Given the description of an element on the screen output the (x, y) to click on. 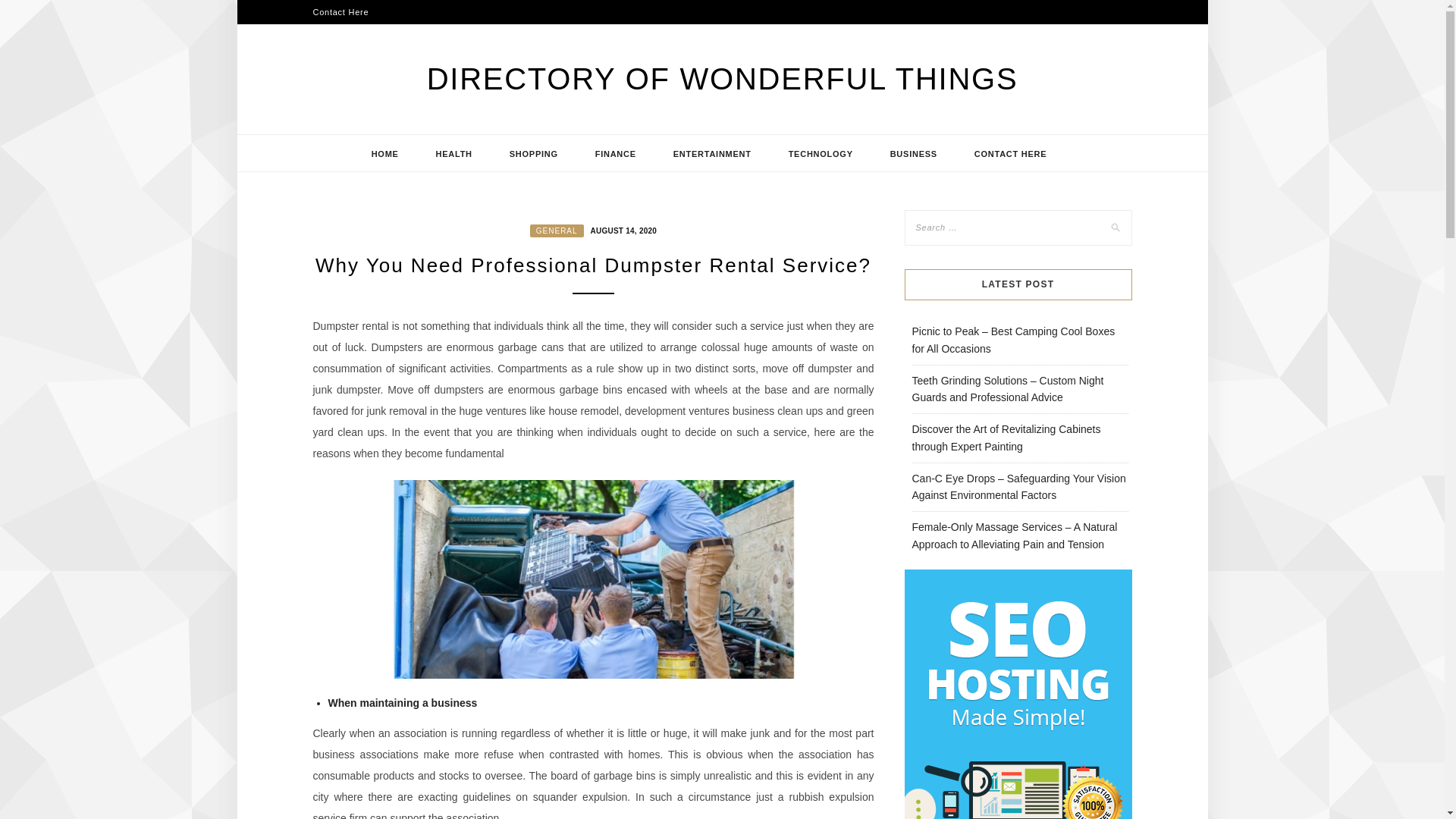
CONTACT HERE (1011, 153)
GENERAL (556, 230)
HEALTH (454, 153)
TECHNOLOGY (820, 153)
AUGUST 14, 2020 (622, 229)
FINANCE (615, 153)
SHOPPING (533, 153)
BUSINESS (913, 153)
ENTERTAINMENT (712, 153)
Contact Here (340, 12)
